Given the description of an element on the screen output the (x, y) to click on. 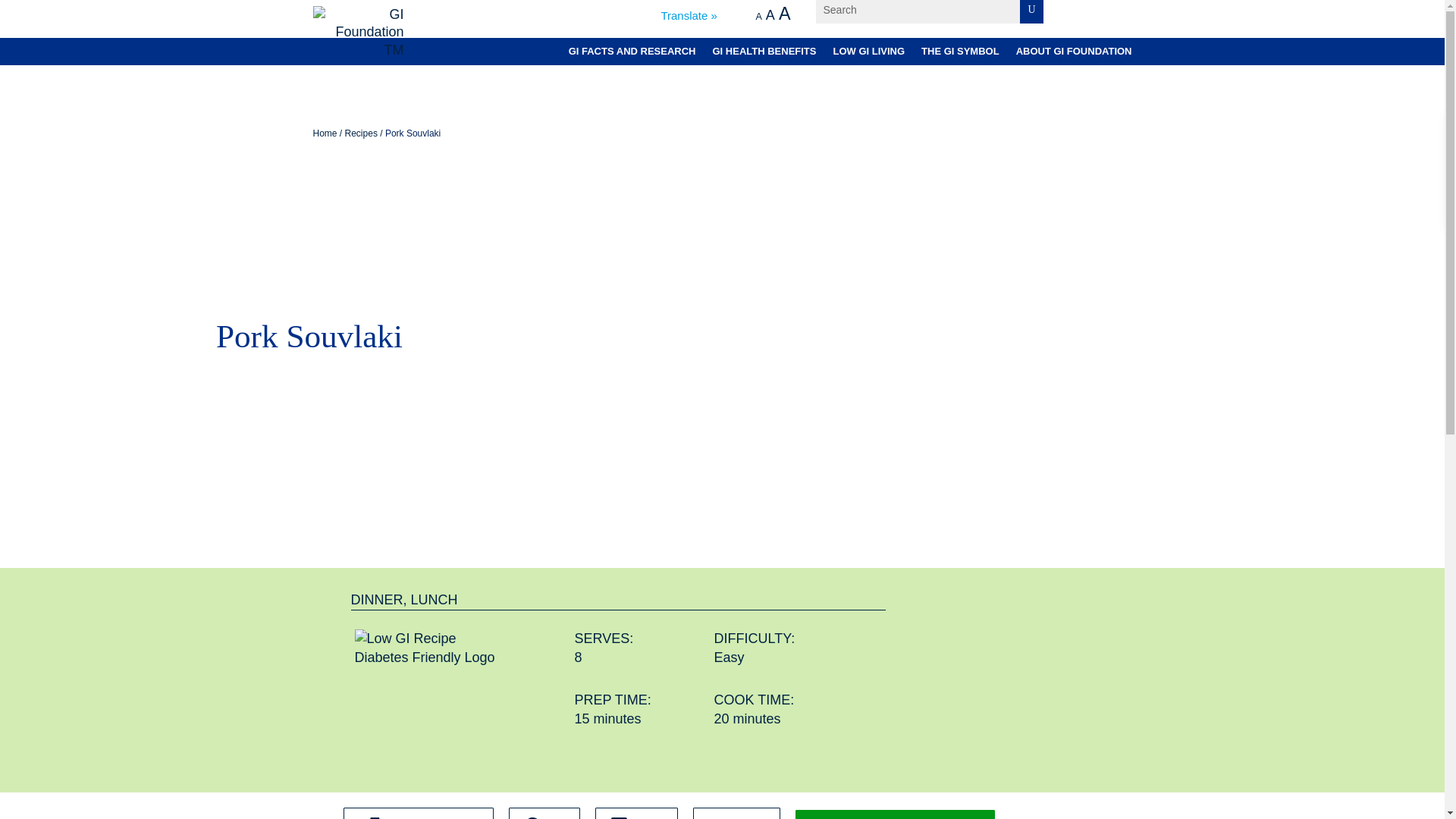
Reset font size (769, 14)
Decrease font size (758, 16)
U (758, 16)
U (1031, 11)
U (1031, 11)
Increase font size (784, 13)
LOW GI LIVING (1031, 11)
U (784, 13)
GI HEALTH BENEFITS (868, 53)
U (1031, 11)
THE GI SYMBOL (763, 53)
GI FACTS AND RESEARCH (1031, 11)
